Given the description of an element on the screen output the (x, y) to click on. 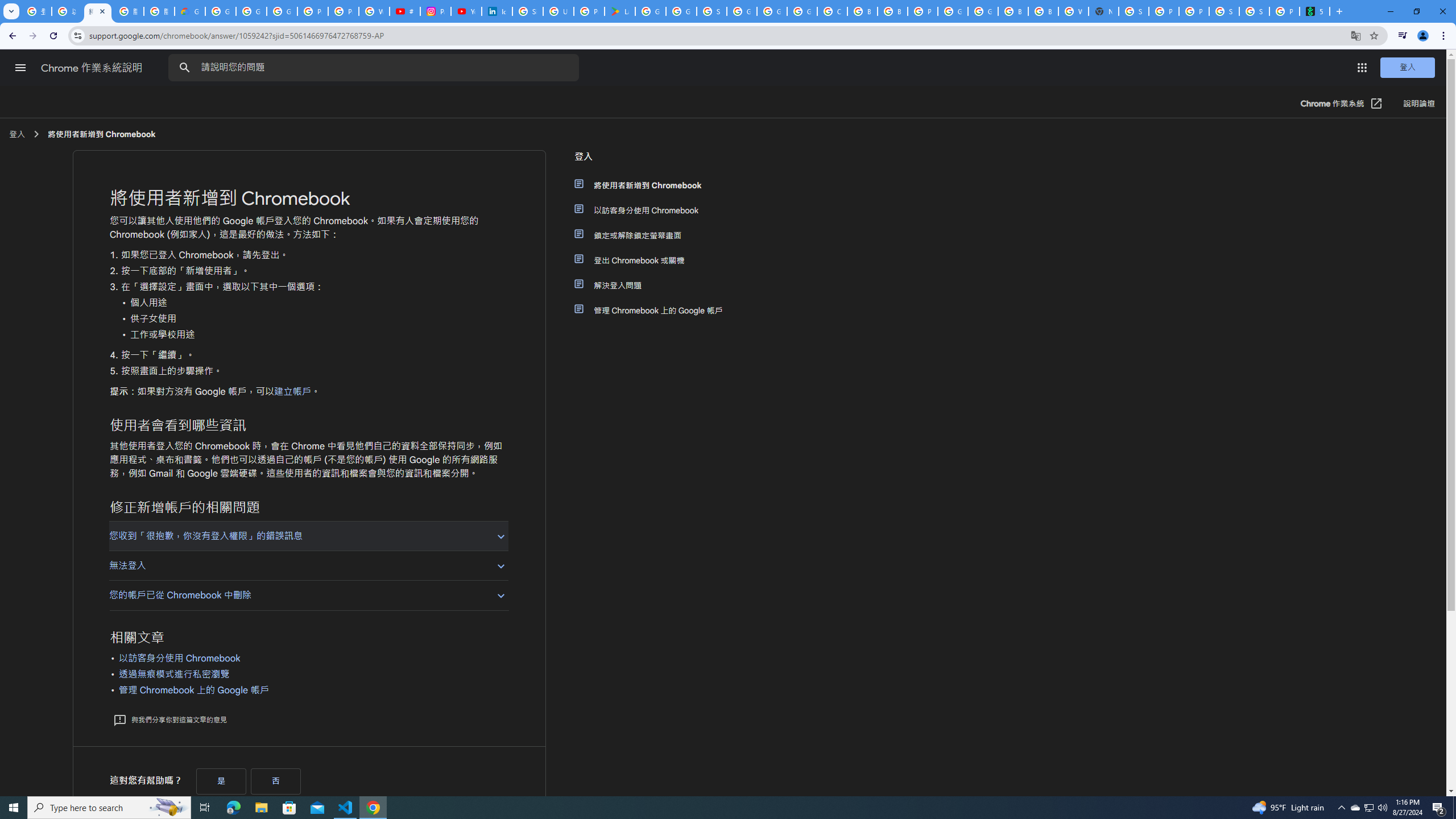
Bookmark this tab (1373, 35)
#nbabasketballhighlights - YouTube (404, 11)
Identity verification via Persona | LinkedIn Help (496, 11)
Control your music, videos, and more (1402, 35)
Sign in - Google Accounts (527, 11)
New Tab (1338, 11)
